Given the description of an element on the screen output the (x, y) to click on. 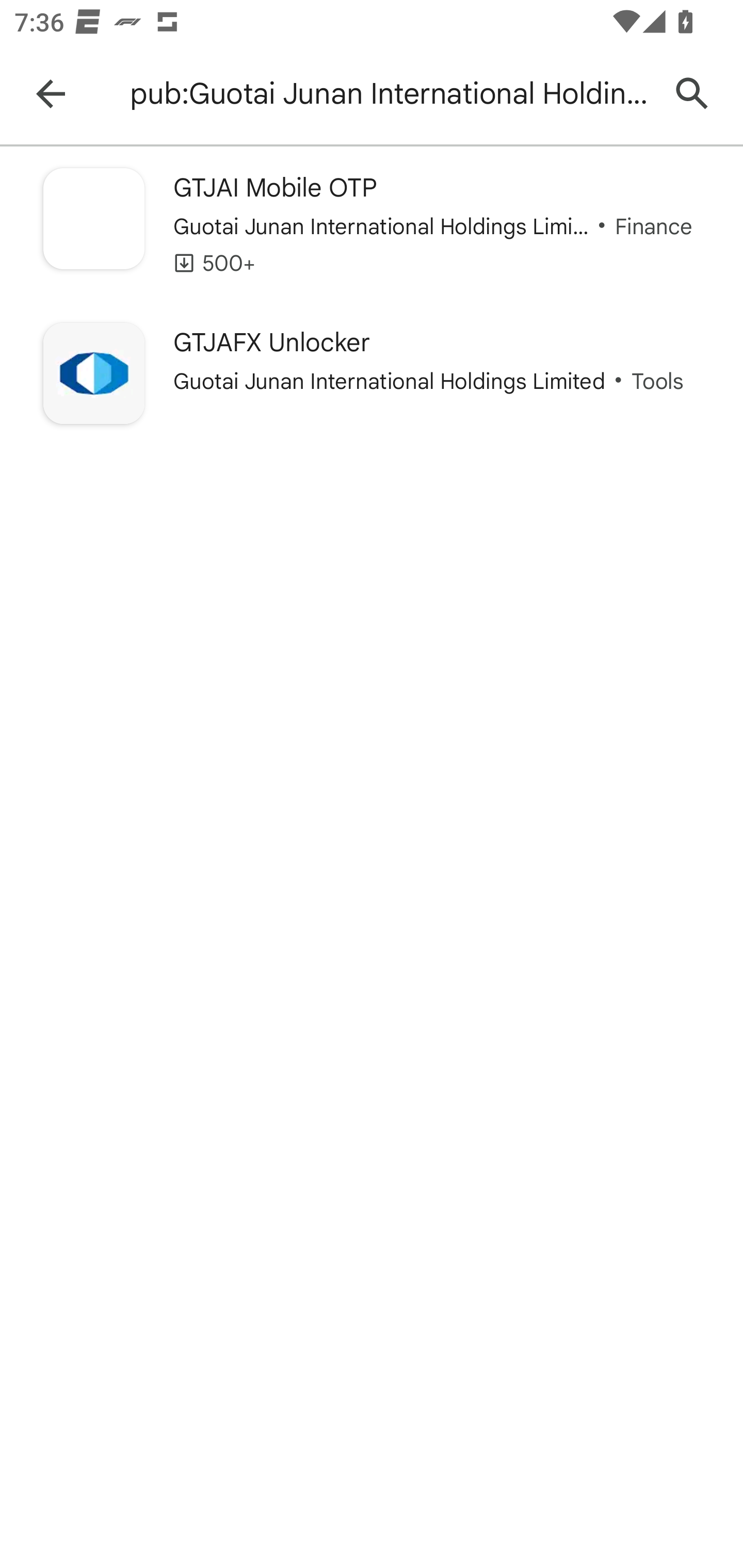
pub:Guotai Junan International Holdings Limited (389, 93)
Navigate up (50, 93)
Search Google Play (692, 93)
